Given the description of an element on the screen output the (x, y) to click on. 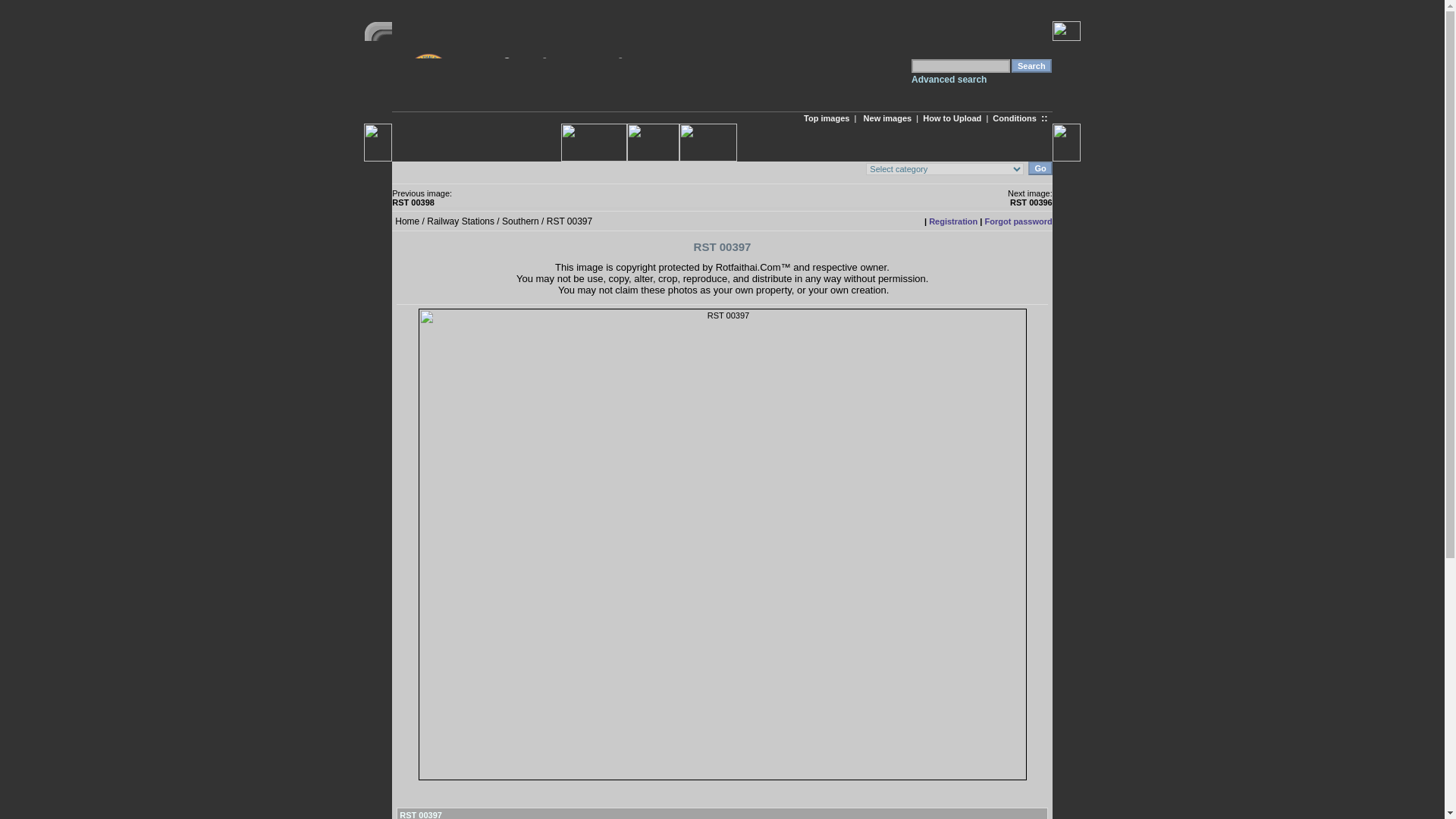
Southern (520, 220)
Railway Stations (460, 220)
Go (1039, 168)
How to Upload (952, 117)
RST 00398 (412, 201)
Go (1039, 168)
Forgot password (1018, 221)
RST 00396 (1031, 201)
Home (406, 220)
Registration (952, 221)
